Given the description of an element on the screen output the (x, y) to click on. 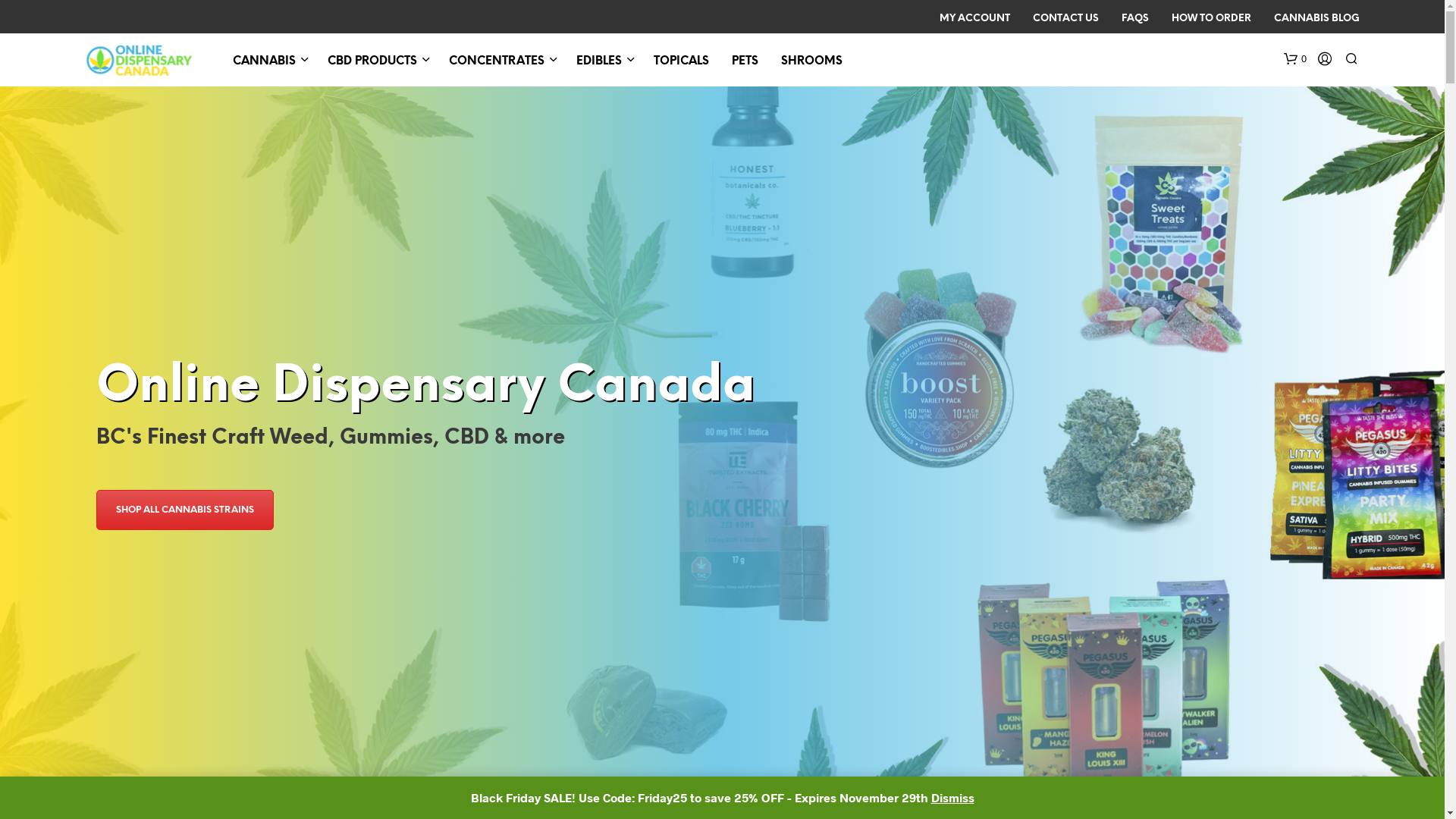
HOW TO ORDER Element type: text (1211, 18)
FAQS Element type: text (1135, 18)
Quality Product at Affordable Prices Element type: hover (139, 59)
EDIBLES Element type: text (598, 61)
MY ACCOUNT Element type: text (974, 18)
CANNABIS BLOG Element type: text (1315, 18)
SHOP ALL CANNABIS STRAINS Element type: text (184, 509)
SHROOMS Element type: text (811, 61)
PETS Element type: text (744, 61)
0 Element type: text (1294, 58)
TOPICALS Element type: text (681, 61)
Dismiss Element type: text (952, 797)
CONCENTRATES Element type: text (496, 61)
CANNABIS Element type: text (264, 61)
CONTACT US Element type: text (1064, 18)
CBD PRODUCTS Element type: text (372, 61)
